Given the description of an element on the screen output the (x, y) to click on. 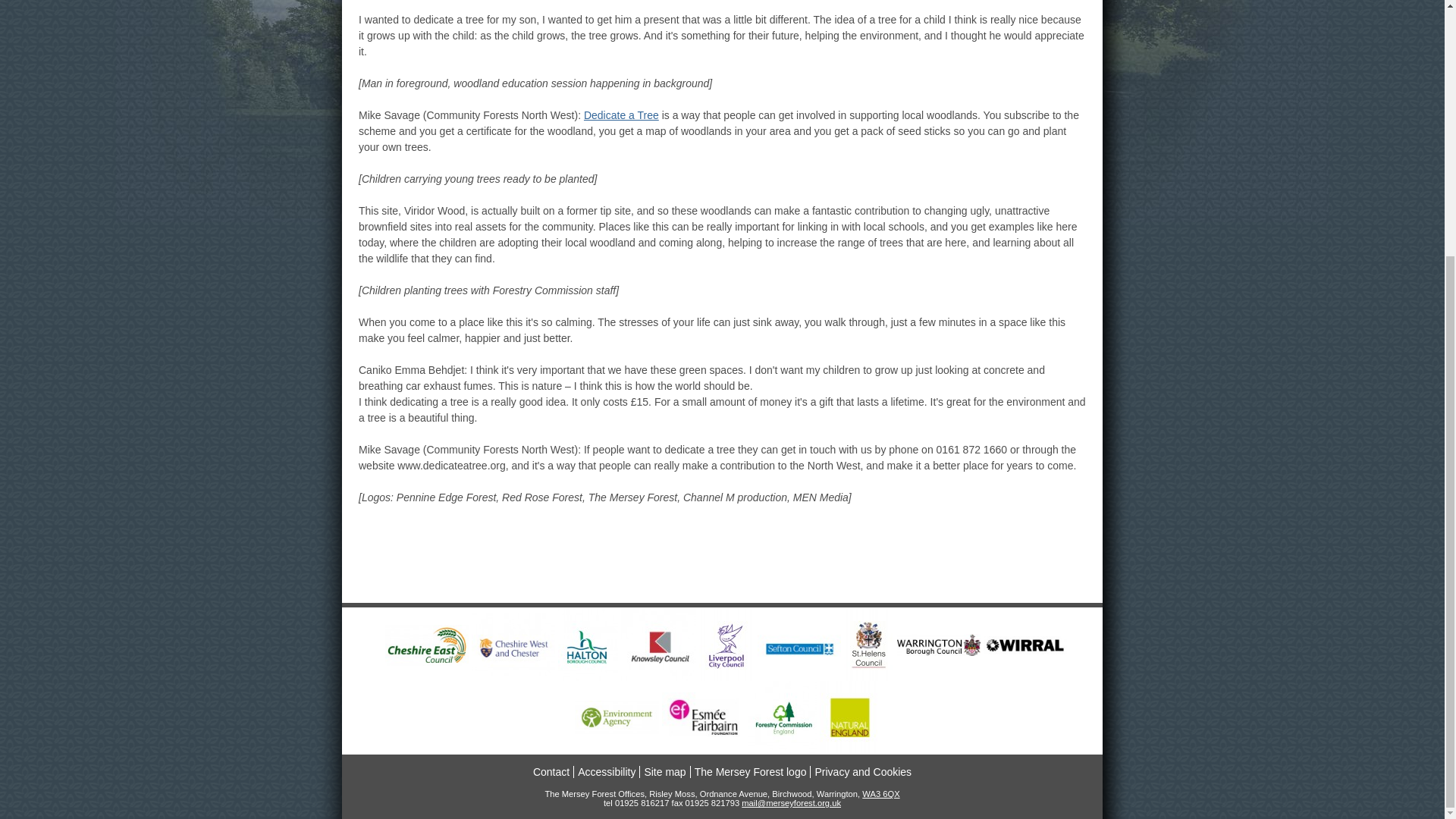
Cheshire West and Chester (509, 644)
Sefton Council (795, 645)
Sefton Council (799, 645)
Cheshire West and Chester (512, 644)
Knowsley Council (658, 644)
Cheshire East (422, 644)
Click to see larger version (426, 644)
Visit the Dedicate a Tree website (621, 114)
Knowsley Council (655, 644)
